Given the description of an element on the screen output the (x, y) to click on. 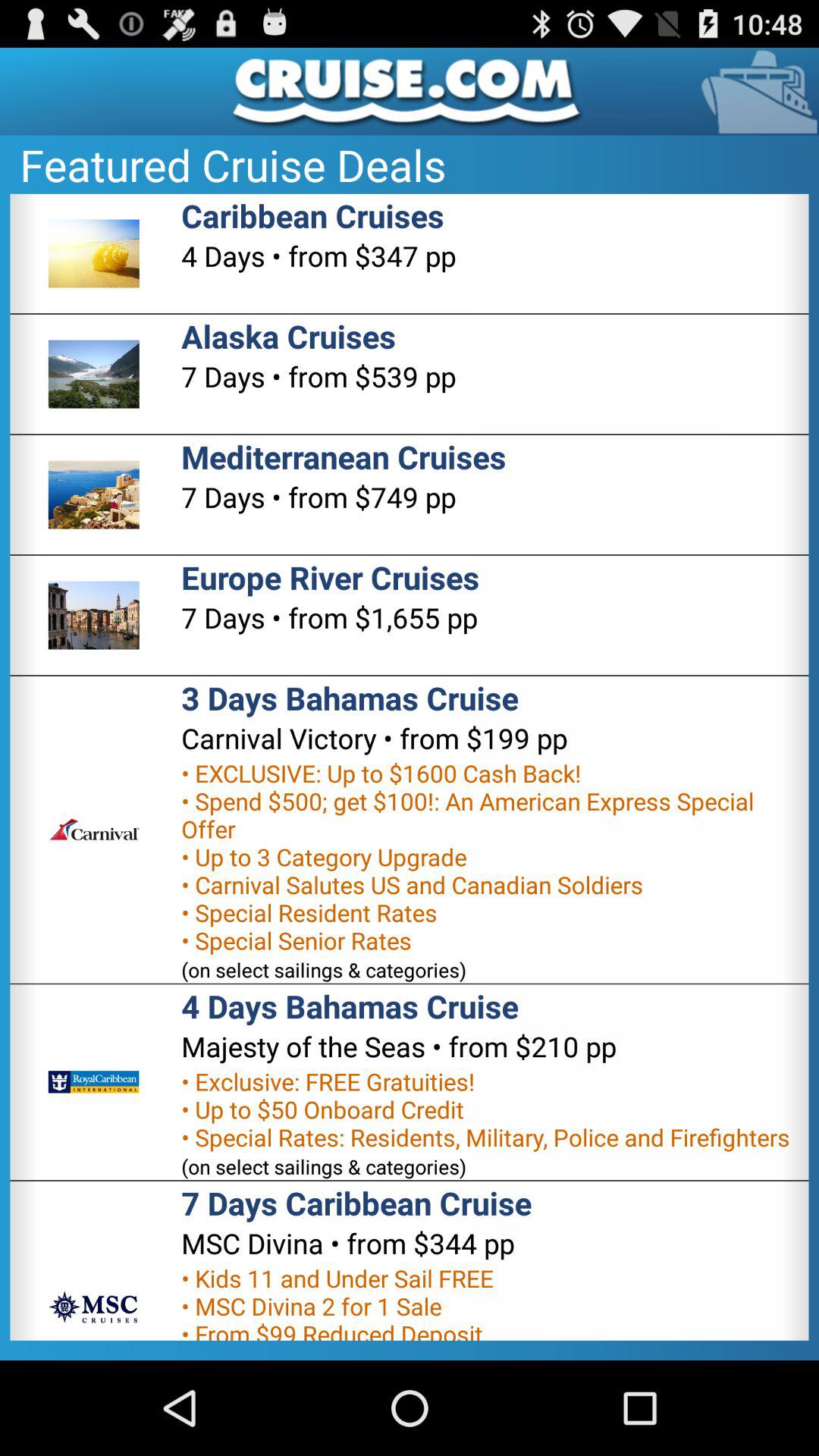
select the app below the msc divina from icon (364, 1301)
